Given the description of an element on the screen output the (x, y) to click on. 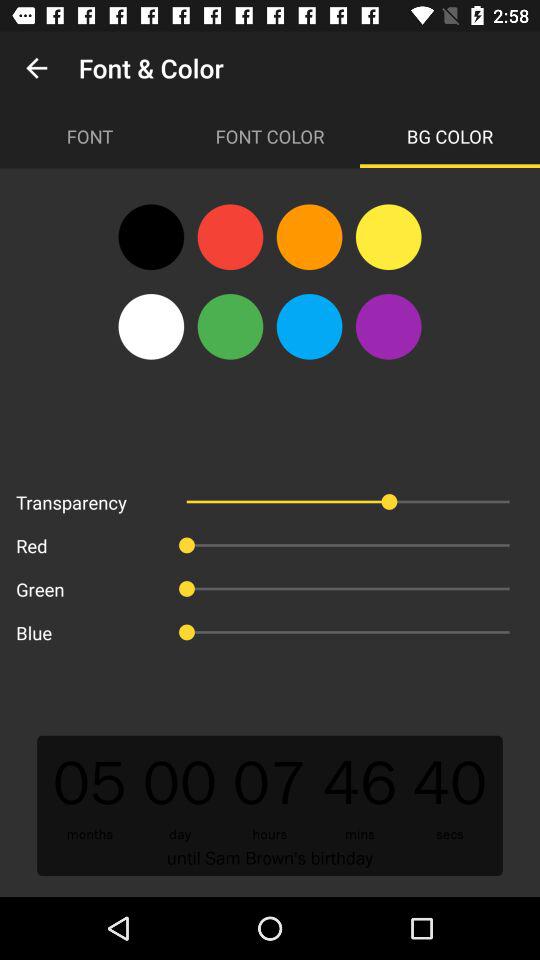
select item next to font & color app (36, 68)
